Given the description of an element on the screen output the (x, y) to click on. 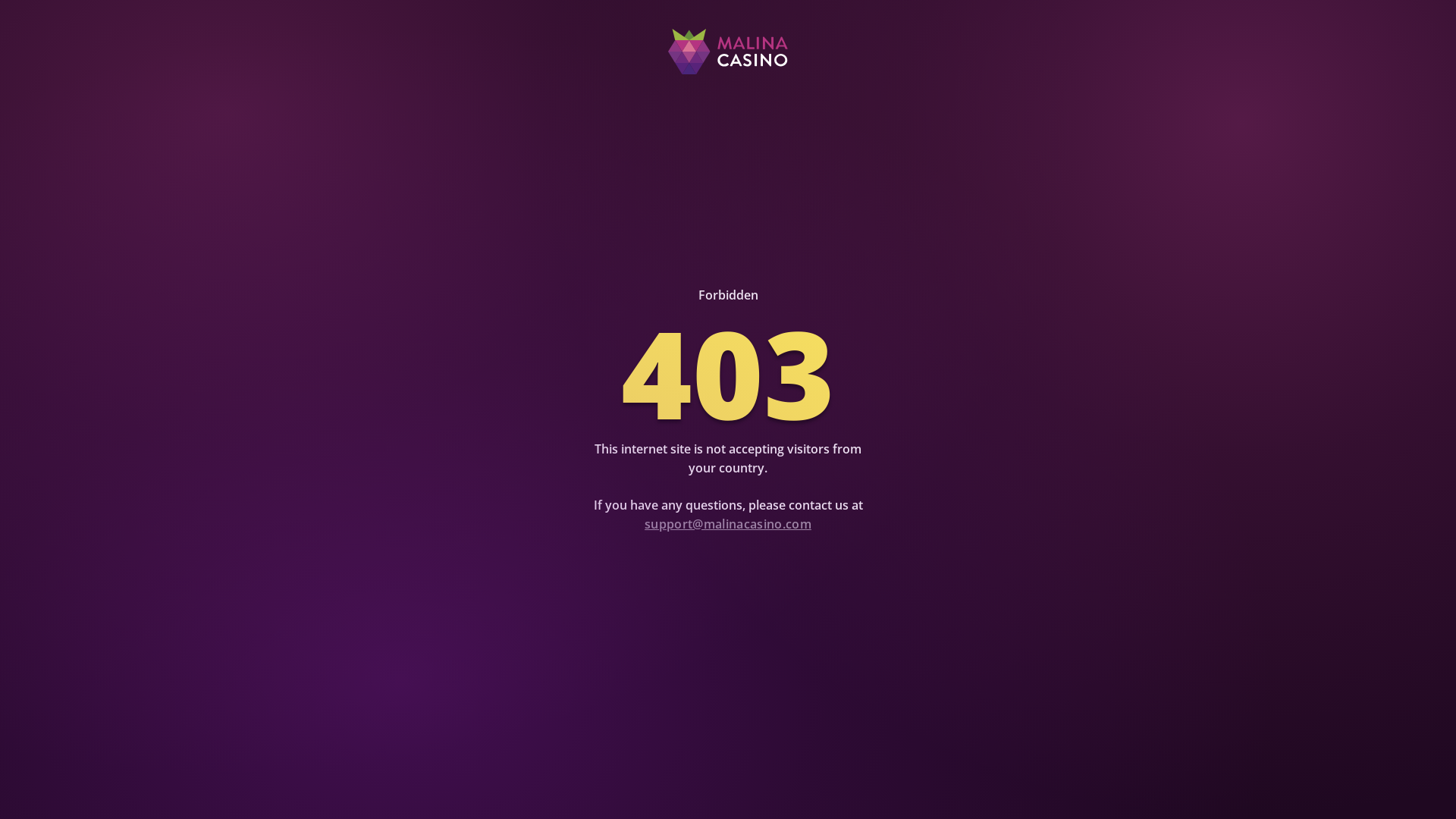
support@malinacasino.com Element type: text (727, 523)
